Given the description of an element on the screen output the (x, y) to click on. 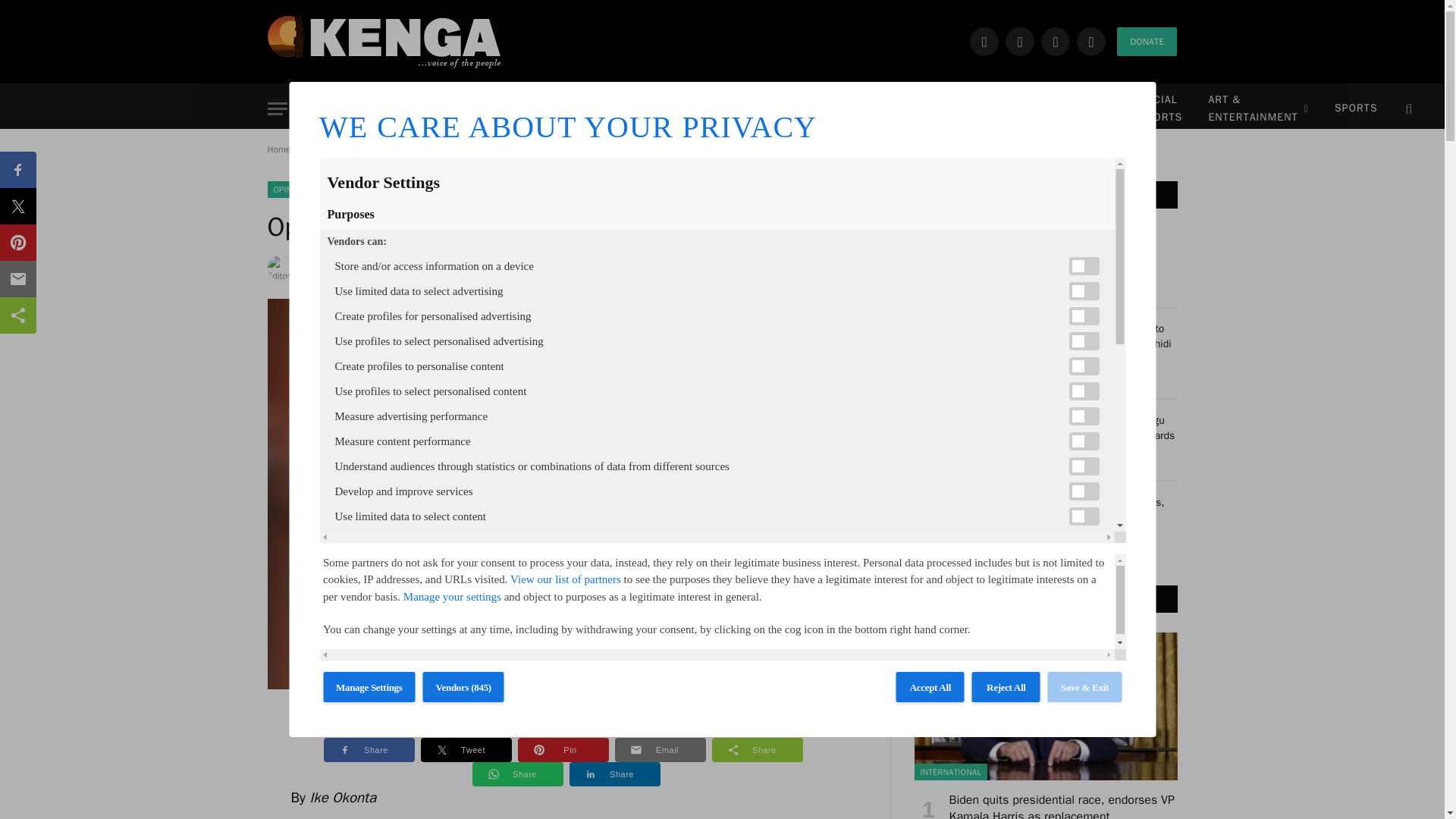
HOME (342, 108)
Twitter (1019, 41)
Ikenga Online (383, 41)
NEWS (412, 108)
YouTube (1091, 41)
Instagram (1055, 41)
DONATE (1146, 41)
Facebook (983, 41)
